Given the description of an element on the screen output the (x, y) to click on. 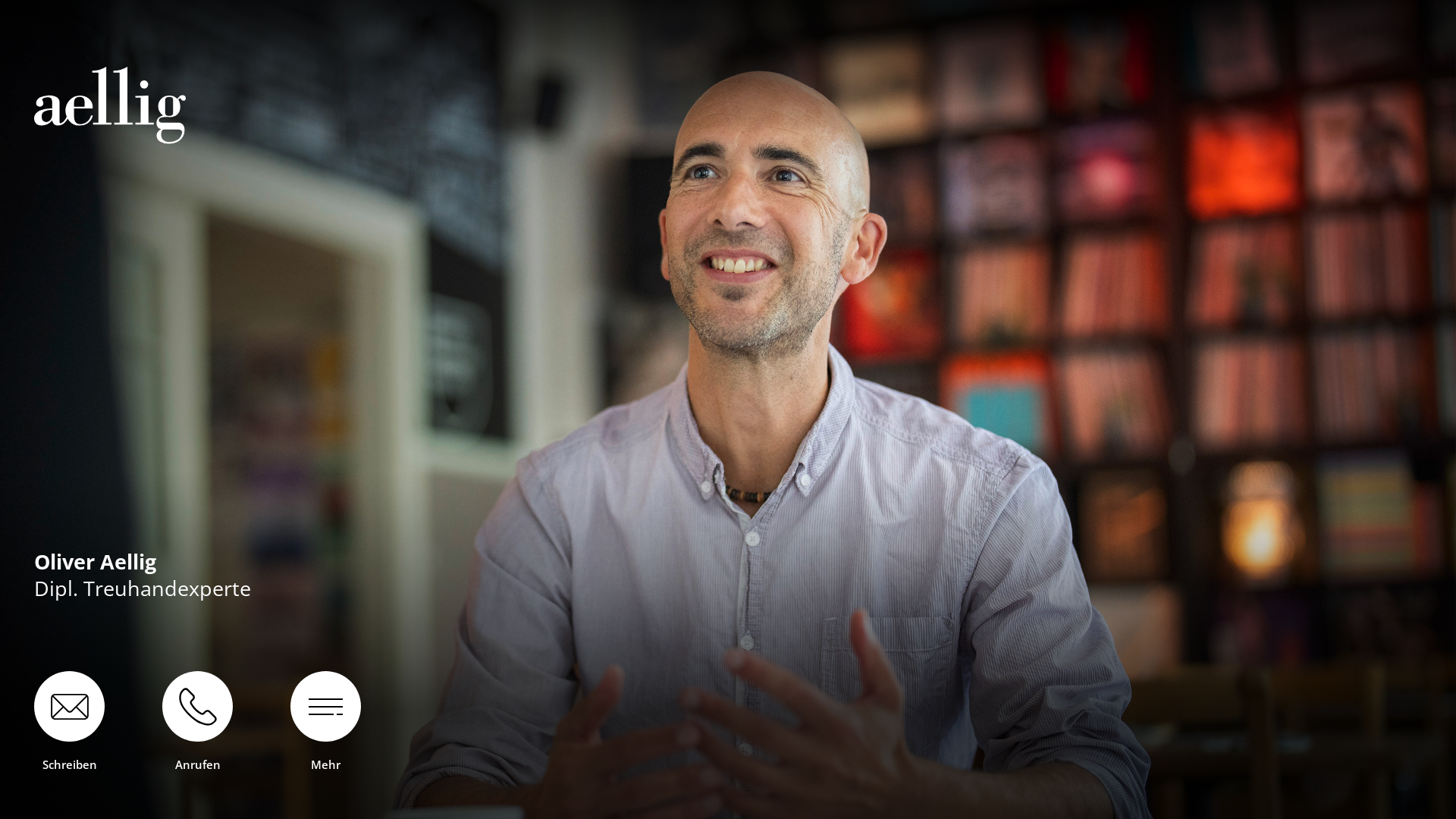
Schreiben Element type: text (69, 720)
Anrufen Element type: text (197, 720)
